Given the description of an element on the screen output the (x, y) to click on. 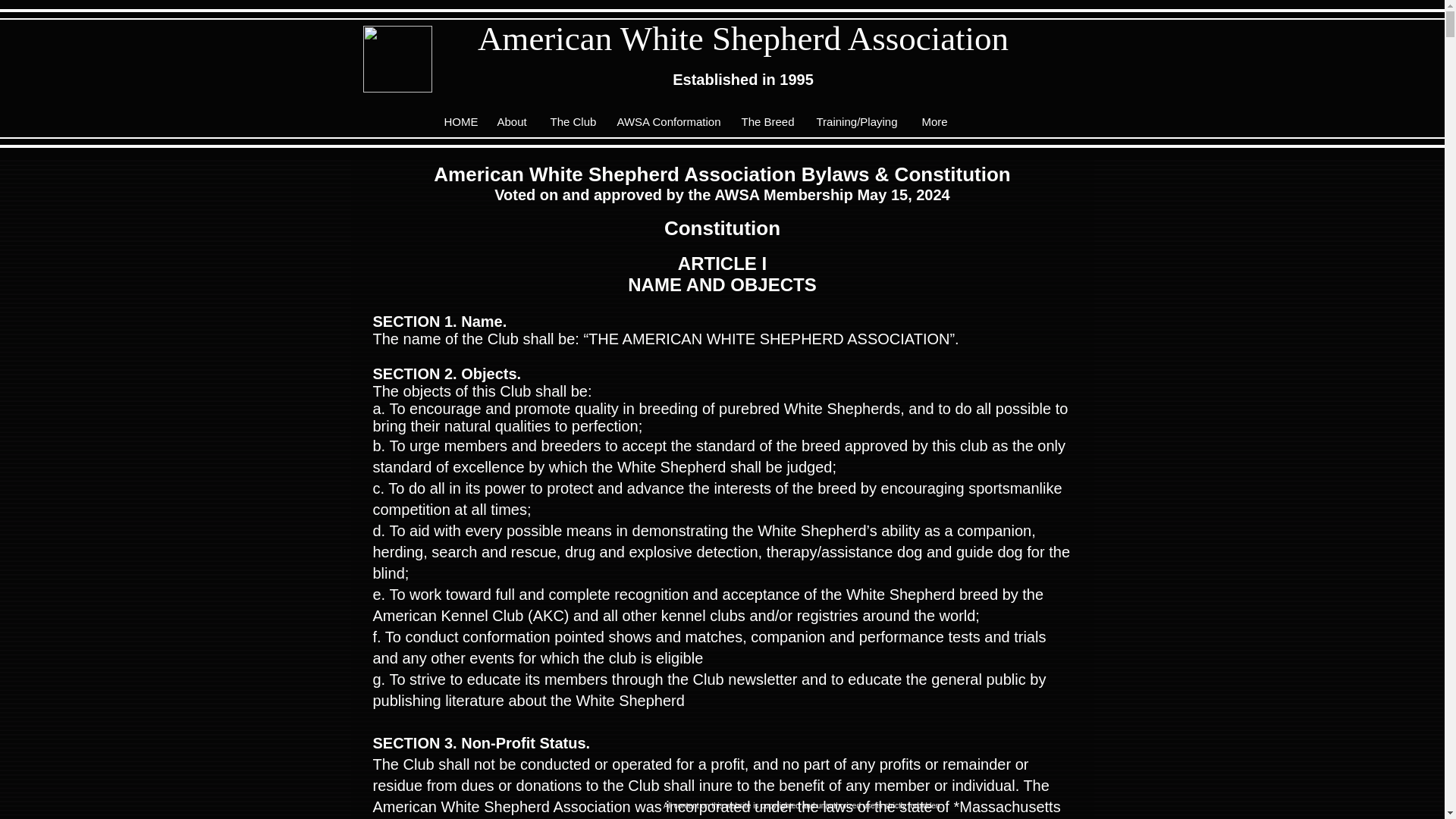
HOME (458, 121)
The Club (571, 121)
AWSA Conformation (667, 121)
About (511, 121)
The Breed (767, 121)
